Given the description of an element on the screen output the (x, y) to click on. 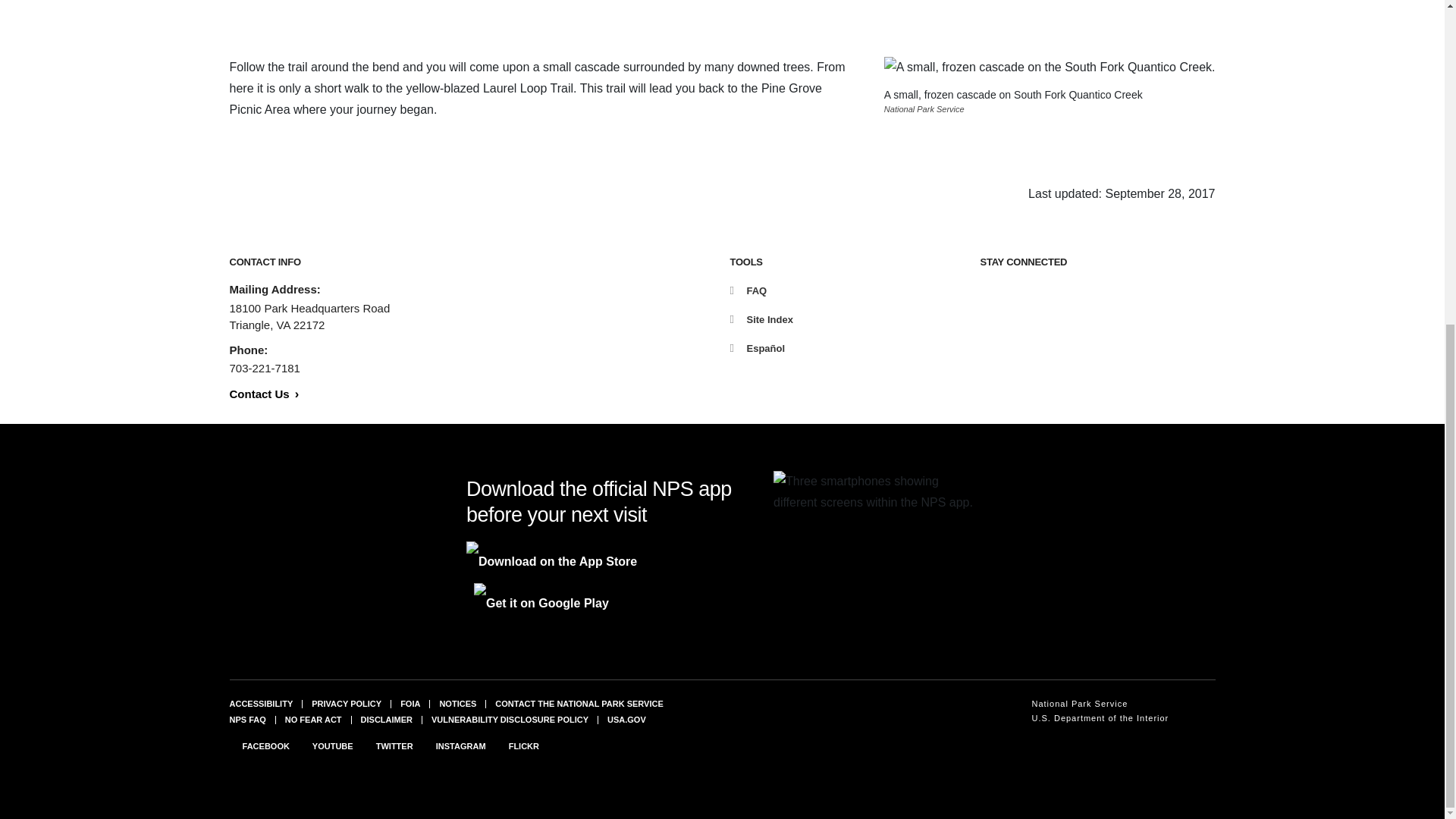
National Park Service (1099, 703)
U.S. Department of the Interior (1099, 718)
ACCESSIBILITY (260, 702)
National Park Service frequently asked questions (246, 718)
PRIVACY POLICY (346, 702)
FOIA (410, 702)
Site Index (760, 319)
FAQ (748, 290)
Contact Us (263, 393)
